Given the description of an element on the screen output the (x, y) to click on. 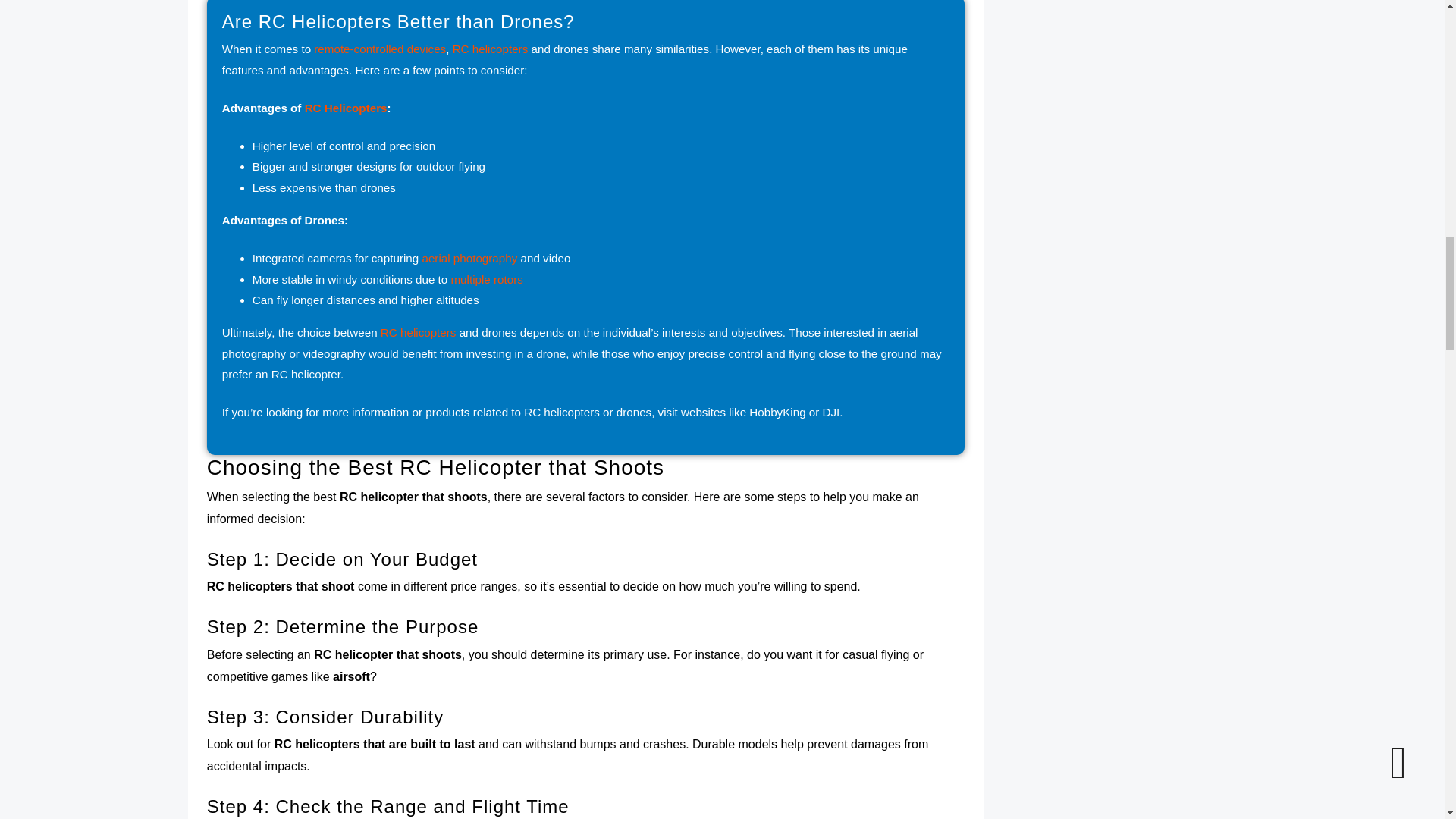
RC helicopters (490, 48)
RC Helicopters (345, 107)
multiple rotors (485, 278)
remote-controlled devices (379, 48)
RC helicopters (418, 332)
aerial photography (469, 257)
